Given the description of an element on the screen output the (x, y) to click on. 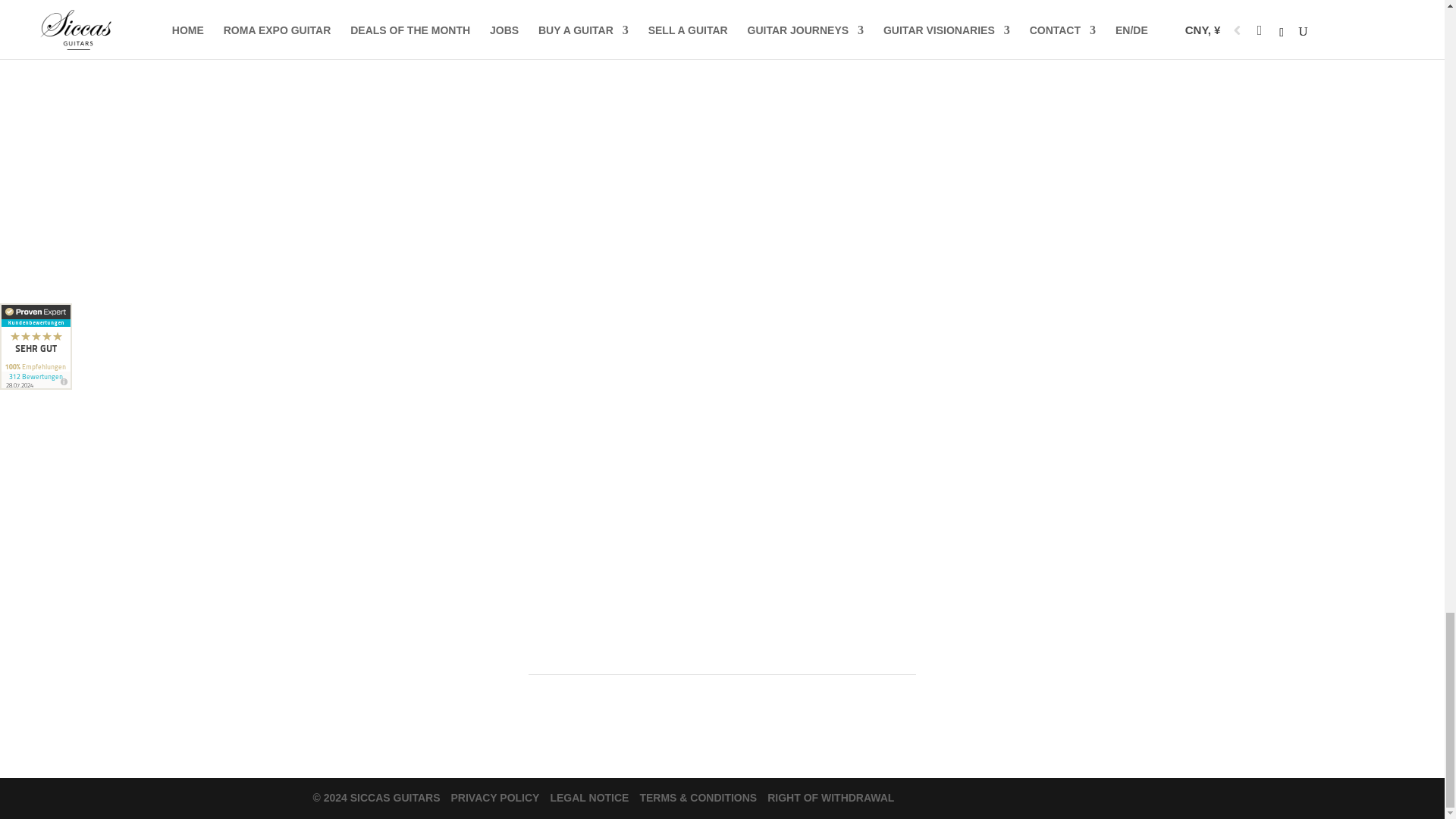
Follow on Youtube (540, 506)
Follow on Twitter (631, 506)
Follow on TikTok (600, 506)
Follow on Instagram (571, 506)
